Given the description of an element on the screen output the (x, y) to click on. 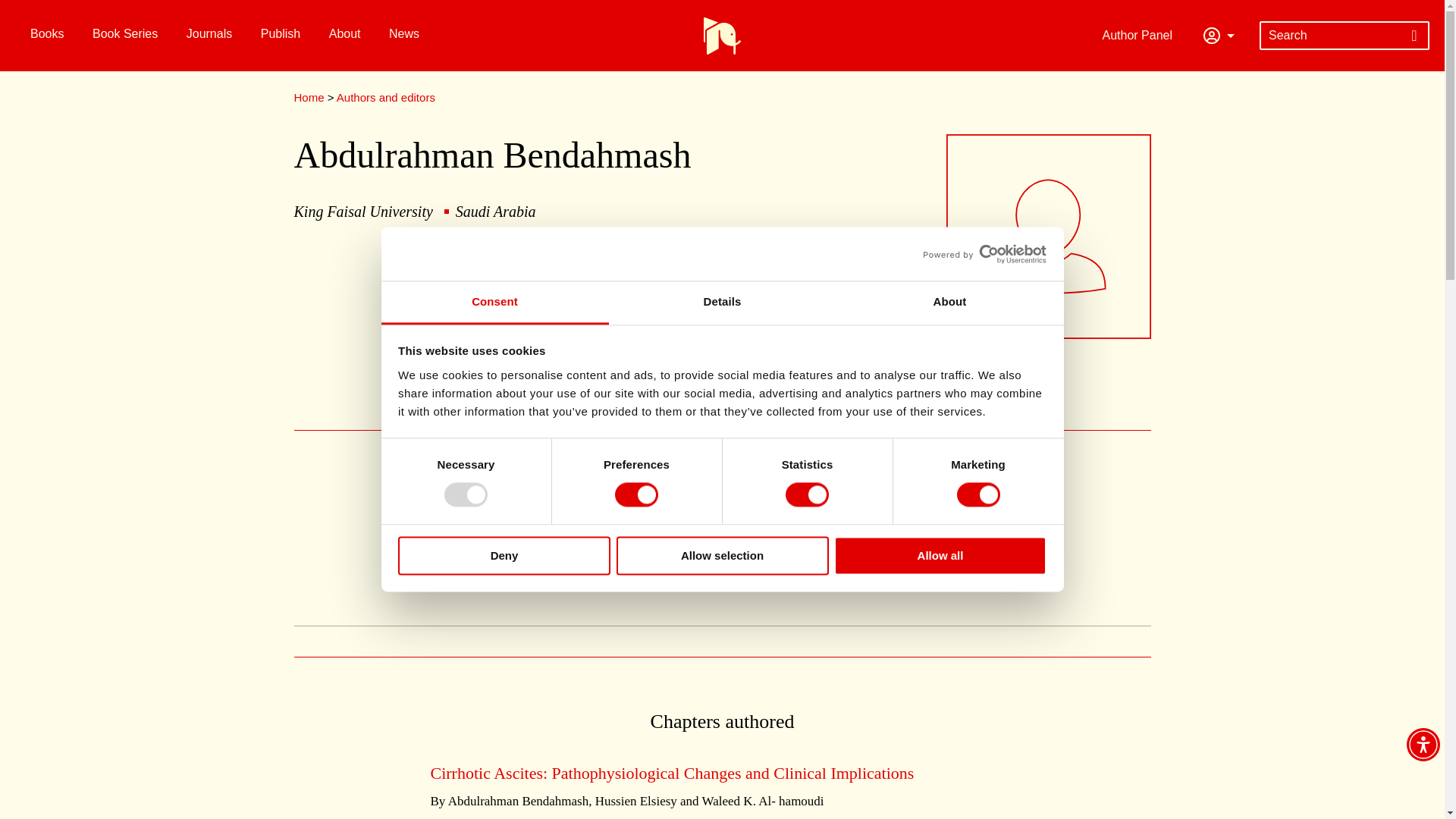
About (948, 302)
Accessibility Menu (1422, 744)
Consent (494, 302)
Details (721, 302)
